Given the description of an element on the screen output the (x, y) to click on. 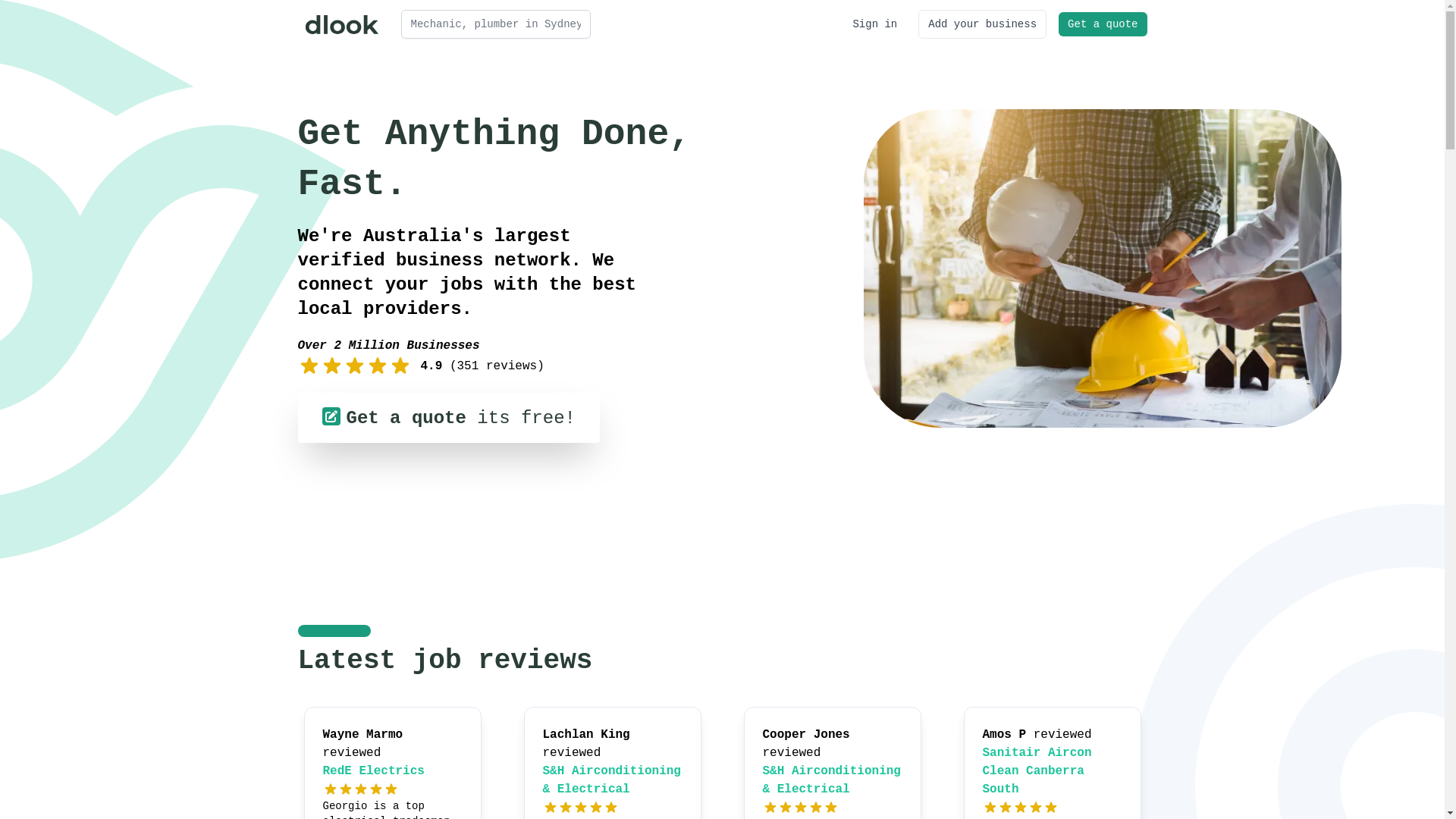
Add your business Element type: text (982, 23)
S&H Airconditioning & Electrical Element type: text (831, 780)
Get a quote Element type: text (1102, 24)
RedE Electrics Element type: text (373, 771)
Get a quote its free! Element type: text (448, 417)
Sign in Element type: text (874, 23)
S&H Airconditioning & Electrical Element type: text (611, 780)
Sanitair Aircon Clean Canberra South Element type: text (1037, 771)
